Given the description of an element on the screen output the (x, y) to click on. 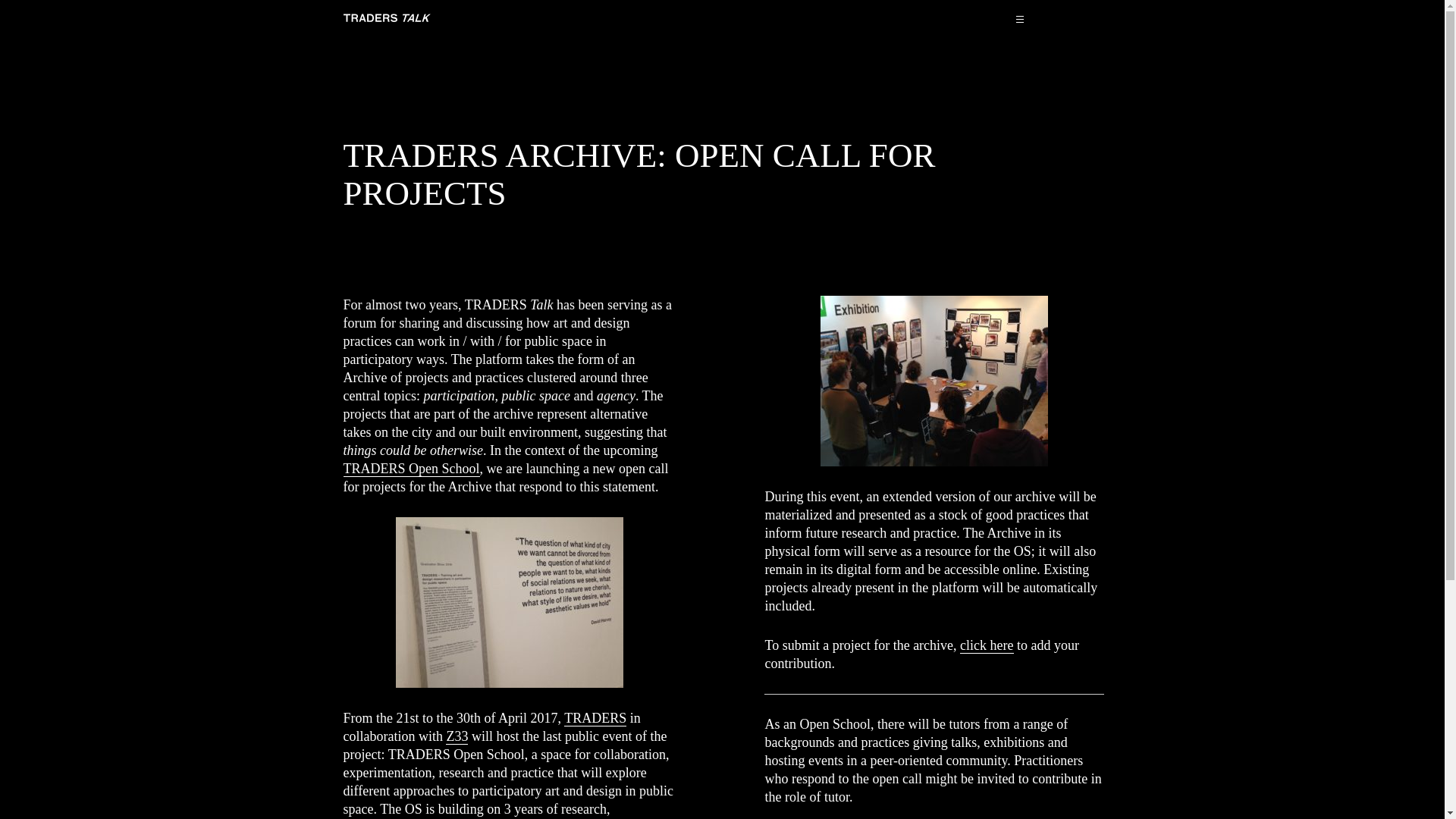
click here (986, 645)
TRADERS (595, 718)
Z33 (456, 736)
TRADERS Open School (410, 468)
